Given the description of an element on the screen output the (x, y) to click on. 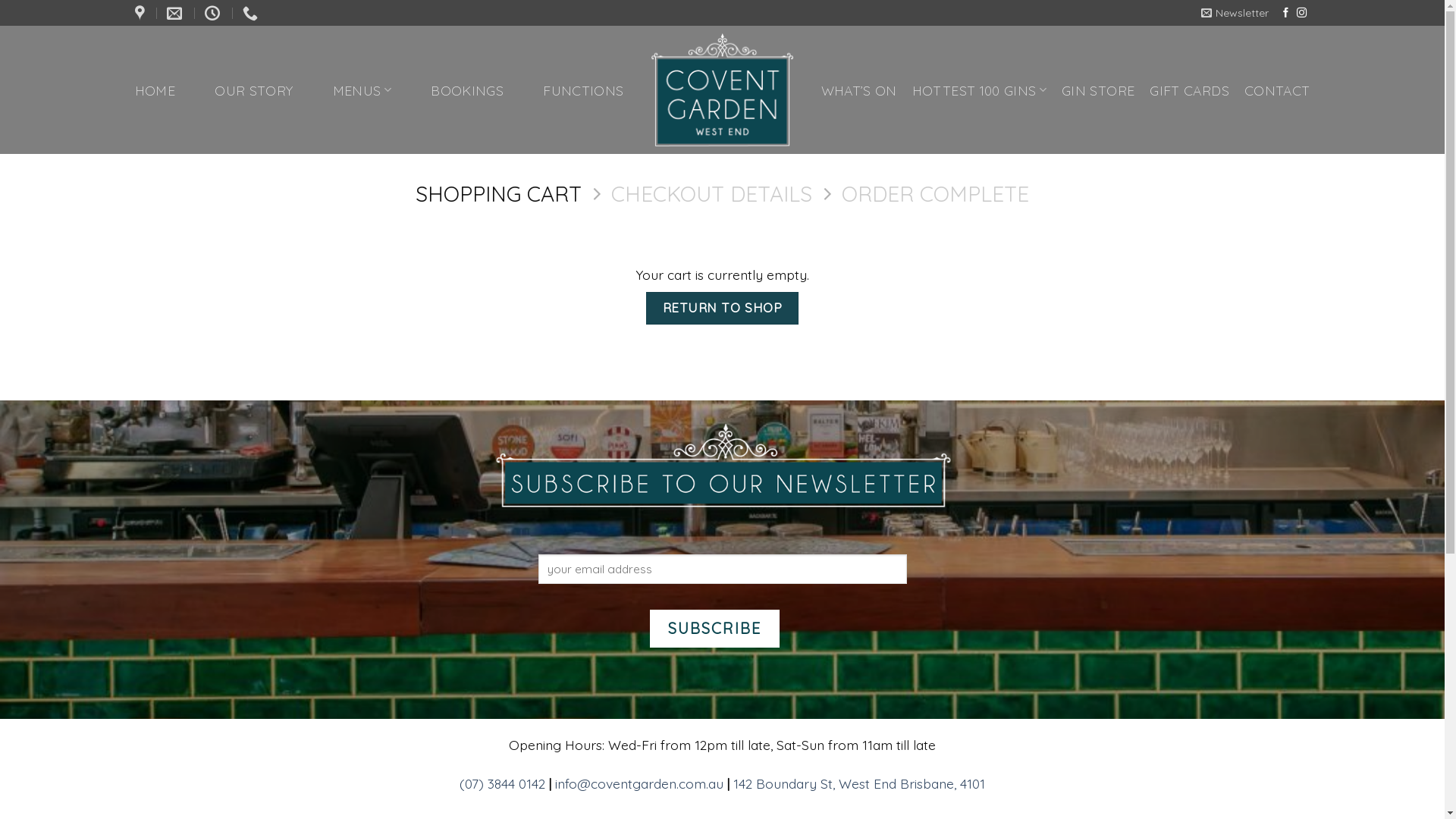
OUR STORY Element type: text (253, 89)
Covent Garden Element type: hover (721, 89)
HOME Element type: text (154, 89)
Follow on Facebook Element type: hover (1285, 12)
BOOKINGS Element type: text (466, 89)
Follow on Instagram Element type: hover (1301, 12)
HOTTEST 100 GINS Element type: text (979, 89)
CONTACT Element type: text (1276, 89)
MENUS Element type: text (361, 89)
GIN STORE Element type: text (1097, 89)
142 Boundary St, West End Brisbane, 4101 Element type: text (859, 783)
ORDER COMPLETE Element type: text (935, 193)
info@coventgarden.com.au Element type: text (639, 783)
Subscribe Element type: text (714, 628)
FUNCTIONS Element type: text (582, 89)
(07) 3844 0142 Element type: text (502, 783)
RETURN TO SHOP Element type: text (721, 307)
CHECKOUT DETAILS Element type: text (711, 193)
SHOPPING CART Element type: text (498, 193)
GIFT CARDS Element type: text (1189, 89)
(07) 3844 0142 Element type: hover (251, 12)
Newsletter Element type: text (1234, 12)
info@coventgarden.com.au Element type: hover (175, 12)
